Given the description of an element on the screen output the (x, y) to click on. 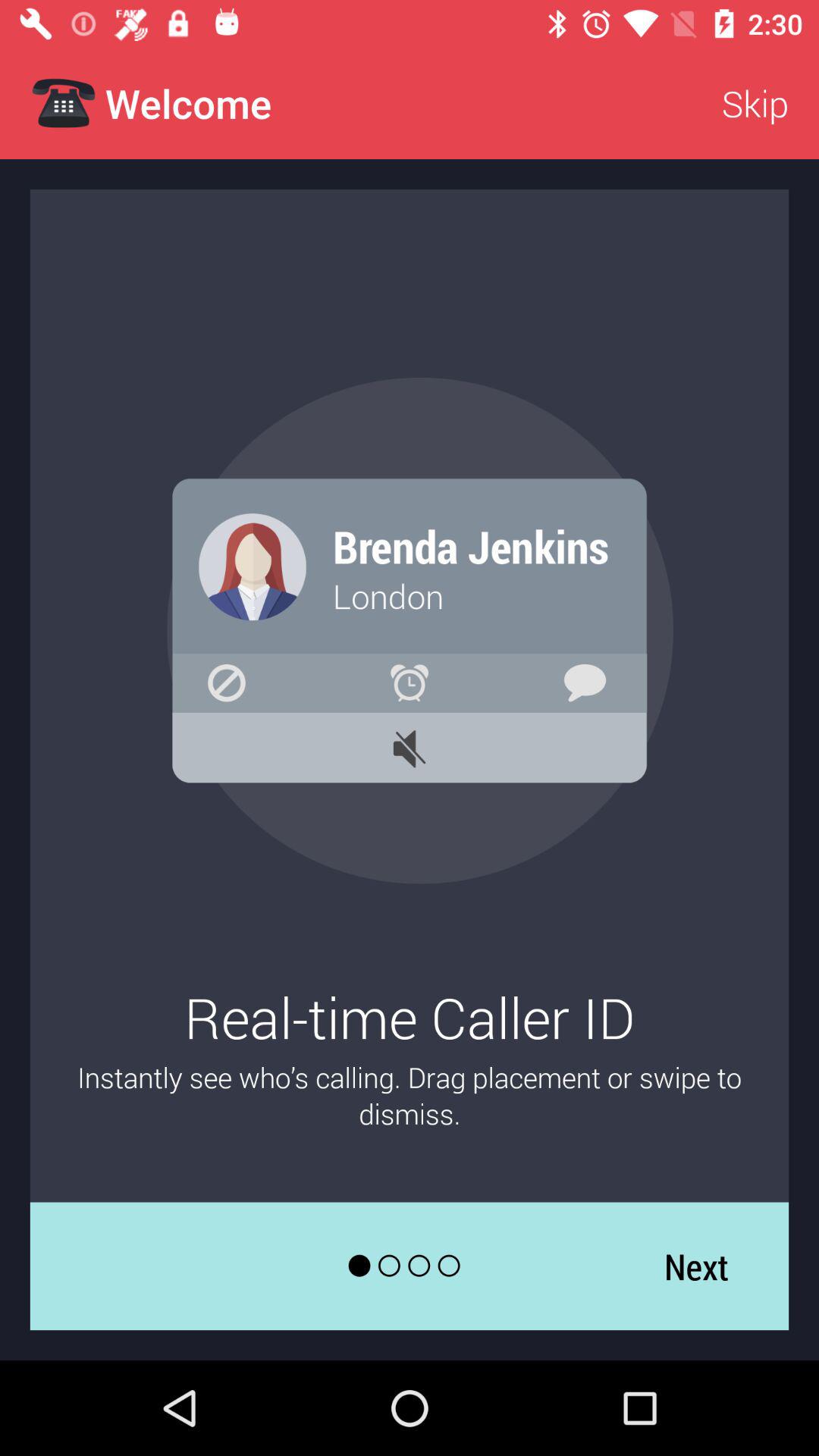
press app next to the  welcome app (755, 103)
